Given the description of an element on the screen output the (x, y) to click on. 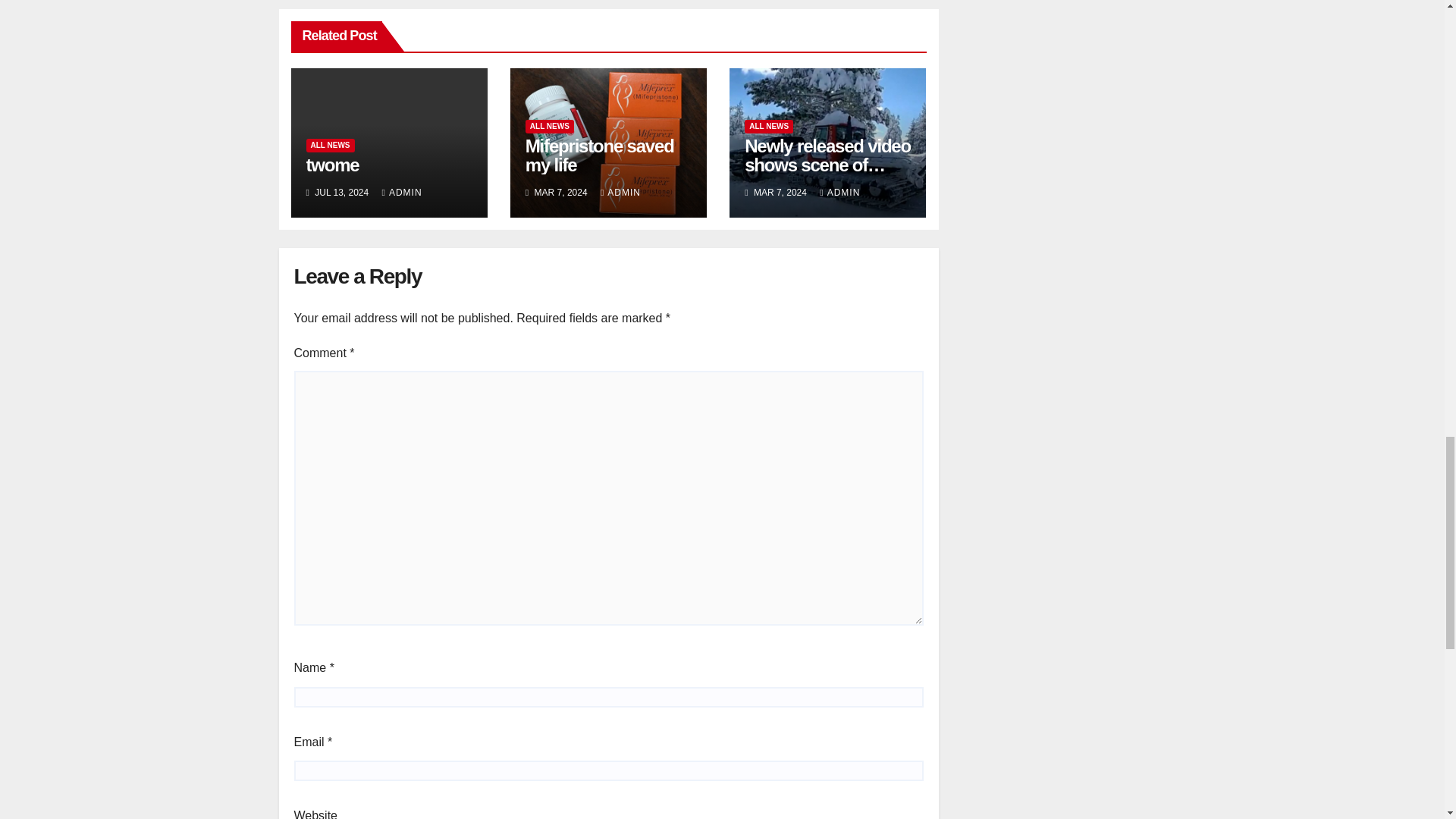
ALL NEWS (549, 126)
ALL NEWS (330, 145)
ADMIN (401, 192)
Mifepristone saved my life (599, 155)
Permalink to: Mifepristone saved my life (599, 155)
Permalink to: twome (332, 164)
twome (332, 164)
